Given the description of an element on the screen output the (x, y) to click on. 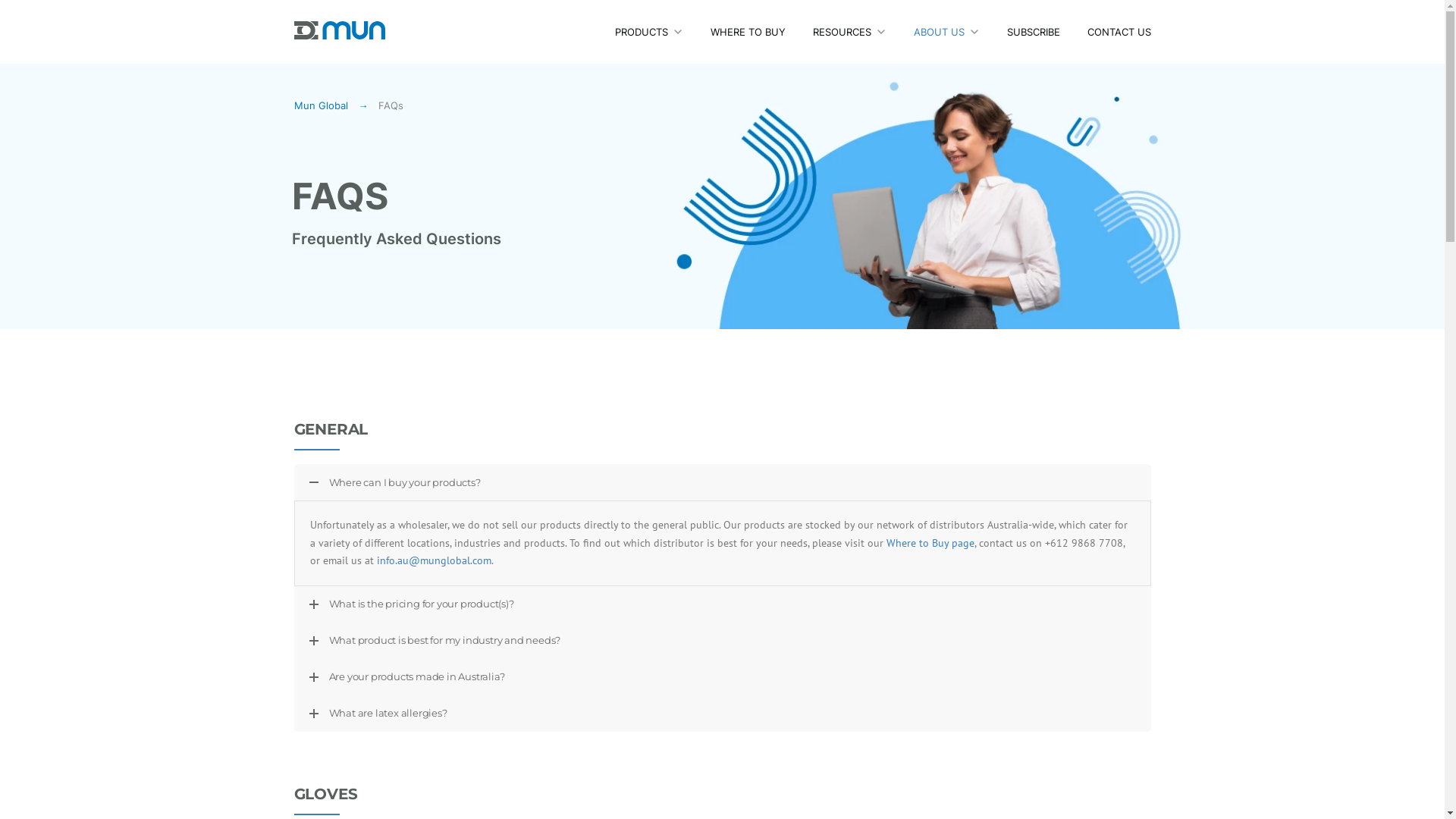
Are your products made in Australia? Element type: text (722, 676)
WHERE TO BUY Element type: text (747, 42)
What is the pricing for your product(s)? Element type: text (722, 603)
Where can I buy your products? Element type: text (722, 482)
Mun Global Element type: hover (339, 28)
Where to Buy page Element type: text (929, 542)
CONTACT US Element type: text (1112, 42)
info.au@munglobal.com Element type: text (433, 560)
Mun Global Element type: text (328, 105)
RESOURCES Element type: text (841, 42)
PRODUCTS Element type: text (640, 42)
ABOUT US Element type: text (938, 42)
What are latex allergies? Element type: text (722, 712)
What product is best for my industry and needs? Element type: text (722, 639)
SUBSCRIBE Element type: text (1033, 42)
